Given the description of an element on the screen output the (x, y) to click on. 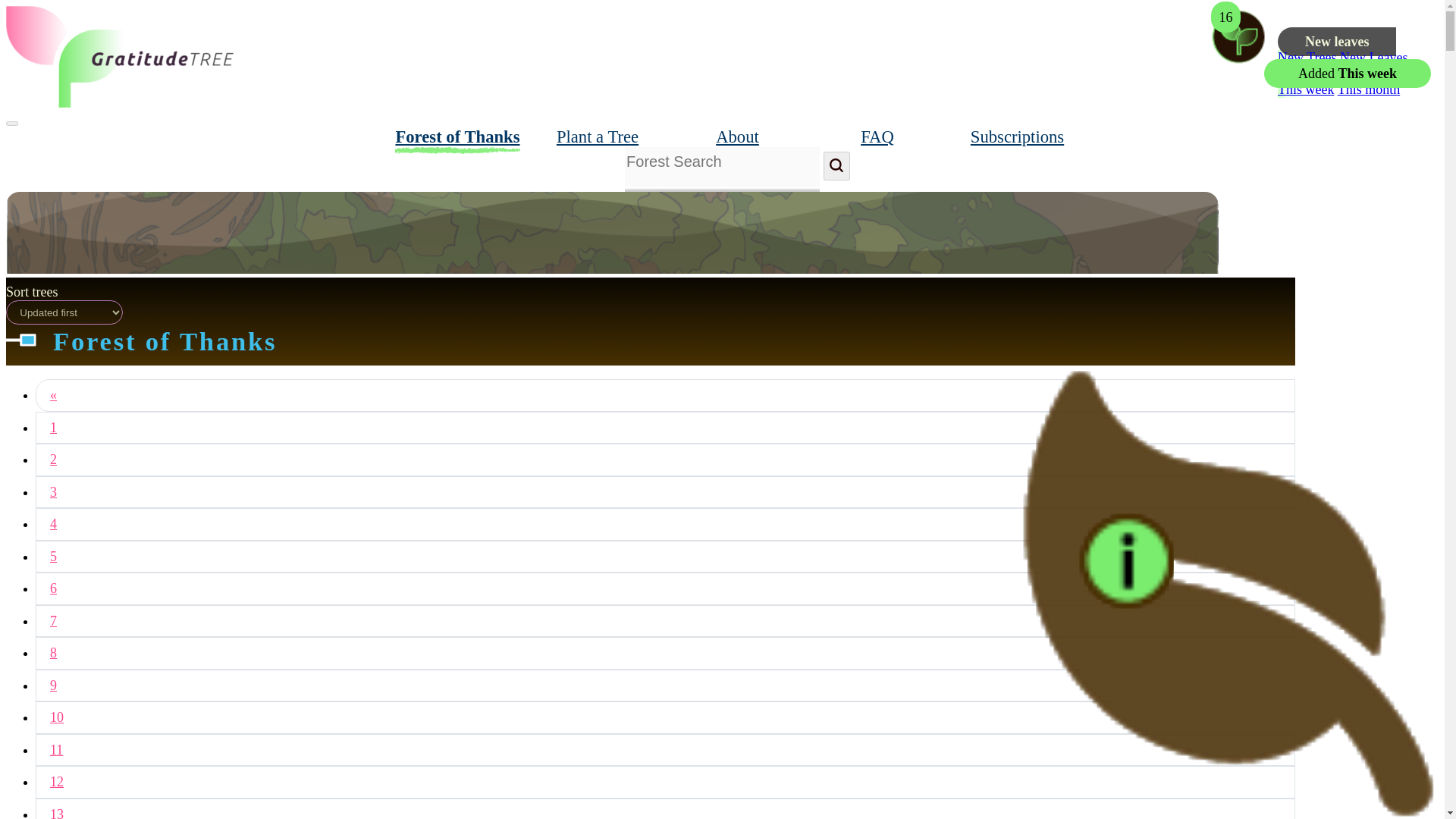
New Trees (1307, 57)
Subscriptions (1017, 136)
Added This week (1347, 72)
This week (1305, 89)
2 (664, 459)
16 (1244, 54)
This month (1369, 89)
7 (664, 621)
8 (664, 653)
10 (664, 717)
5 (664, 556)
4 (664, 523)
About (737, 136)
9 (664, 685)
Plant a Tree (597, 136)
